Given the description of an element on the screen output the (x, y) to click on. 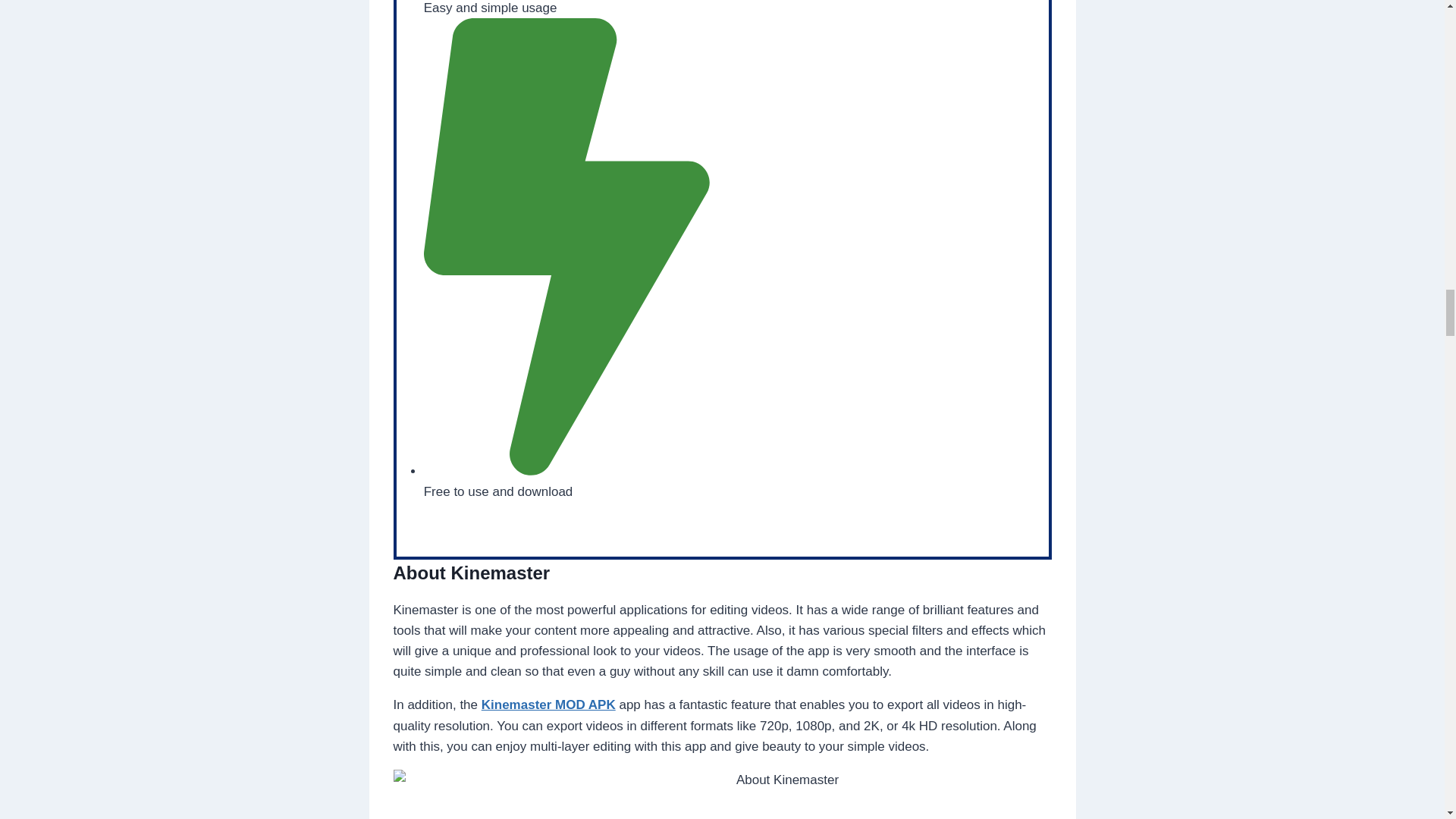
Kinemaster MOD APK (548, 704)
